Given the description of an element on the screen output the (x, y) to click on. 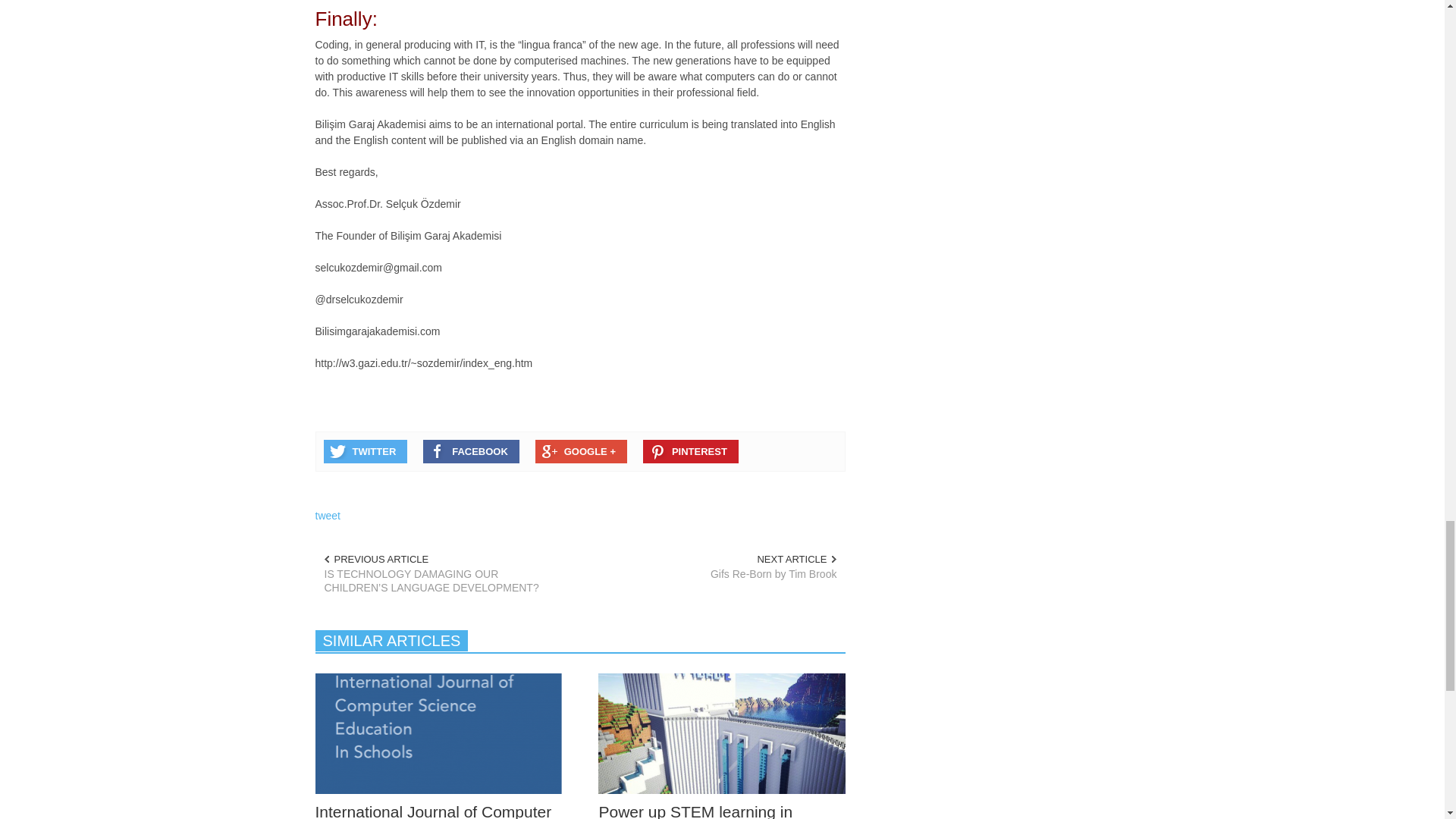
TWITTER (365, 451)
Power up STEM learning in Minecraft Edu  by Yasemin Allso (709, 811)
Power up STEM learning in Minecraft Edu  by Yasemin Allso (721, 733)
FACEBOOK (471, 451)
PINTEREST (690, 451)
tweet (327, 515)
Gifs Re-Born by Tim Brook (716, 573)
Power up STEM learning in Minecraft Edu  by Yasemin Allso (721, 732)
